Given the description of an element on the screen output the (x, y) to click on. 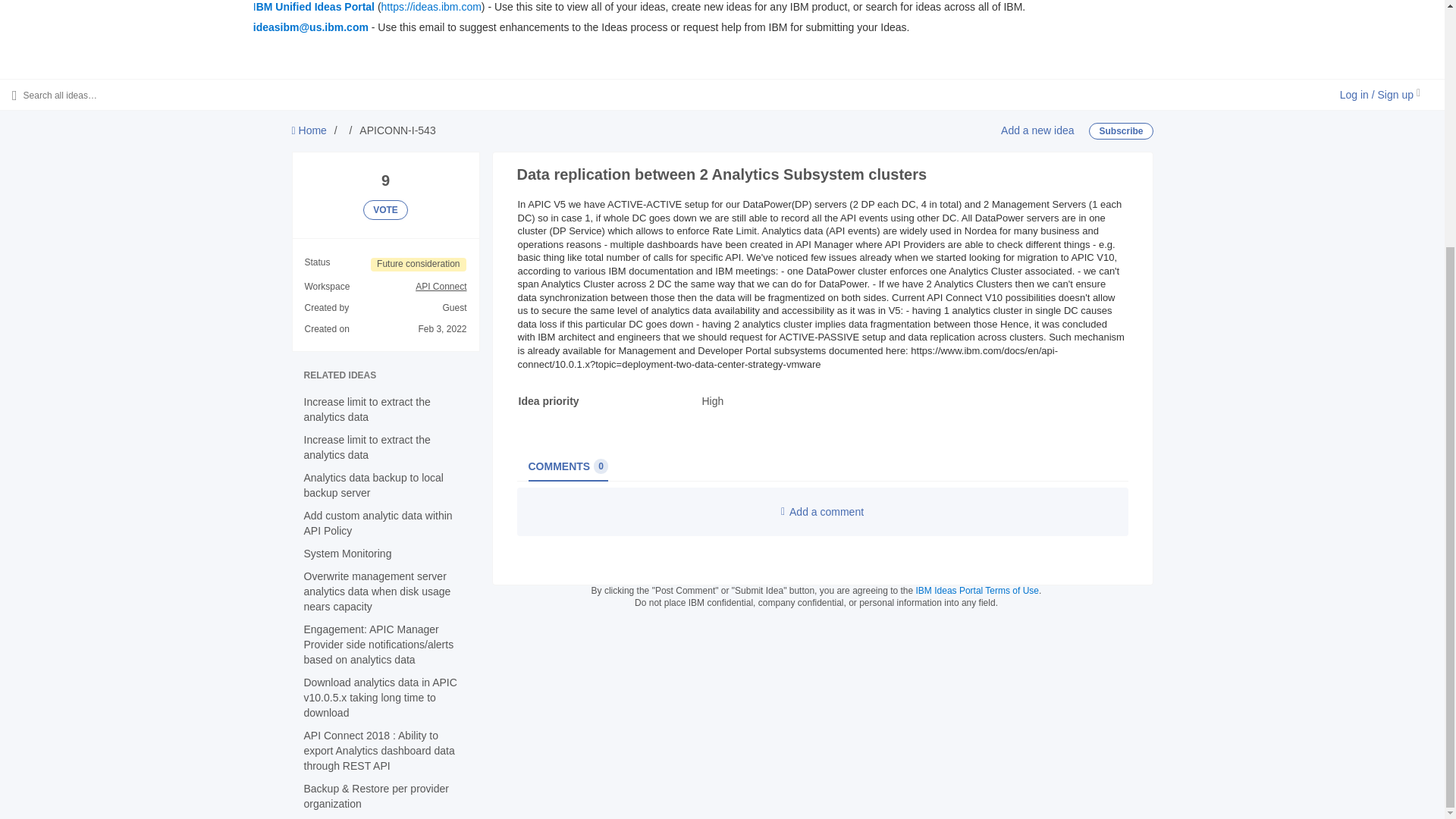
Add custom analytic data within API Policy (376, 523)
Future consideration (418, 264)
Increase limit to extract the analytics data (365, 447)
Subscribe (1121, 130)
System Monitoring (346, 553)
Increase limit to extract the analytics data (365, 409)
Analytics data backup to local backup server (372, 484)
Add a comment (822, 511)
